Given the description of an element on the screen output the (x, y) to click on. 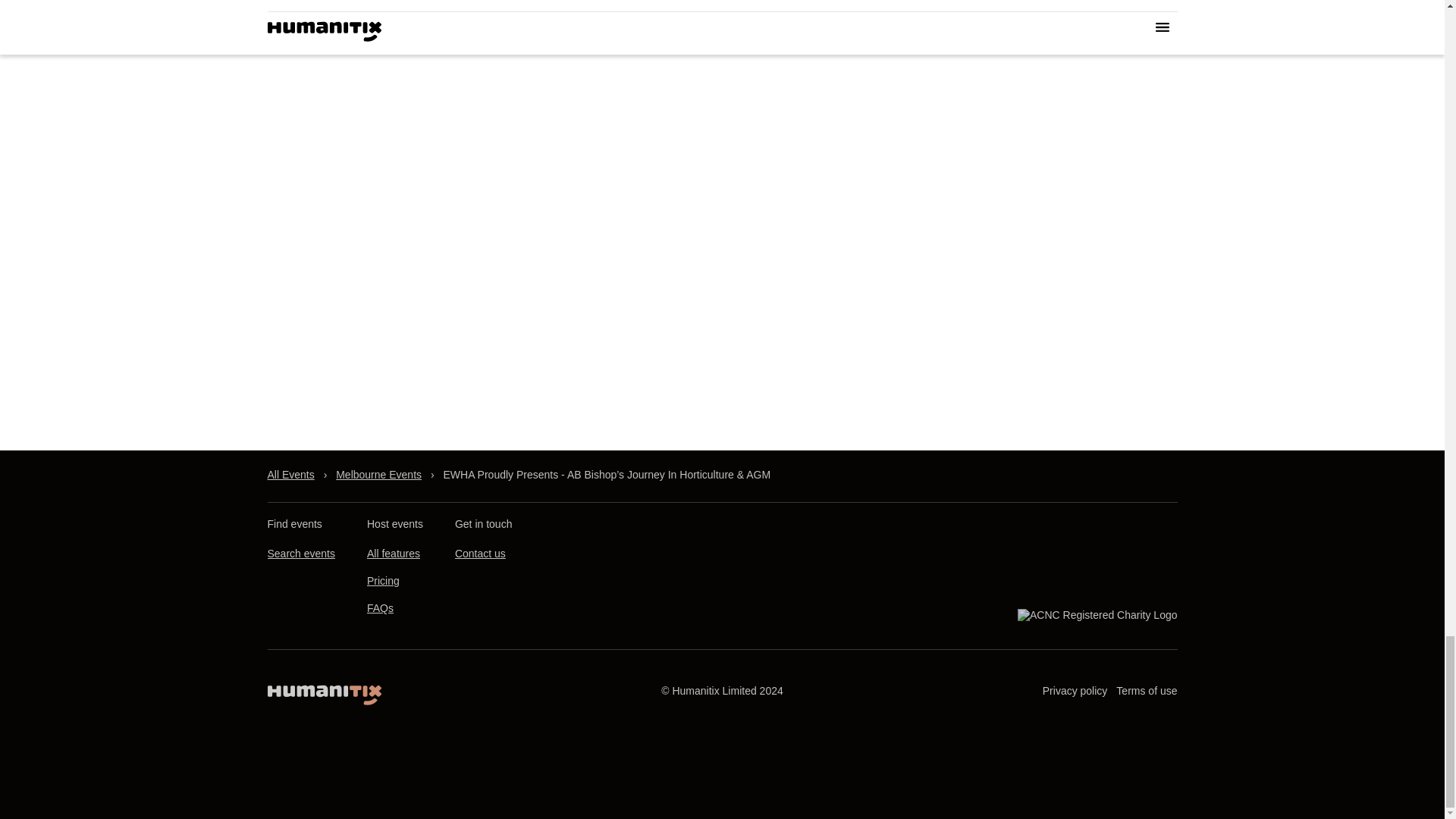
All features (393, 553)
Search events (300, 553)
Melbourne Events (379, 474)
All Events (290, 474)
